Given the description of an element on the screen output the (x, y) to click on. 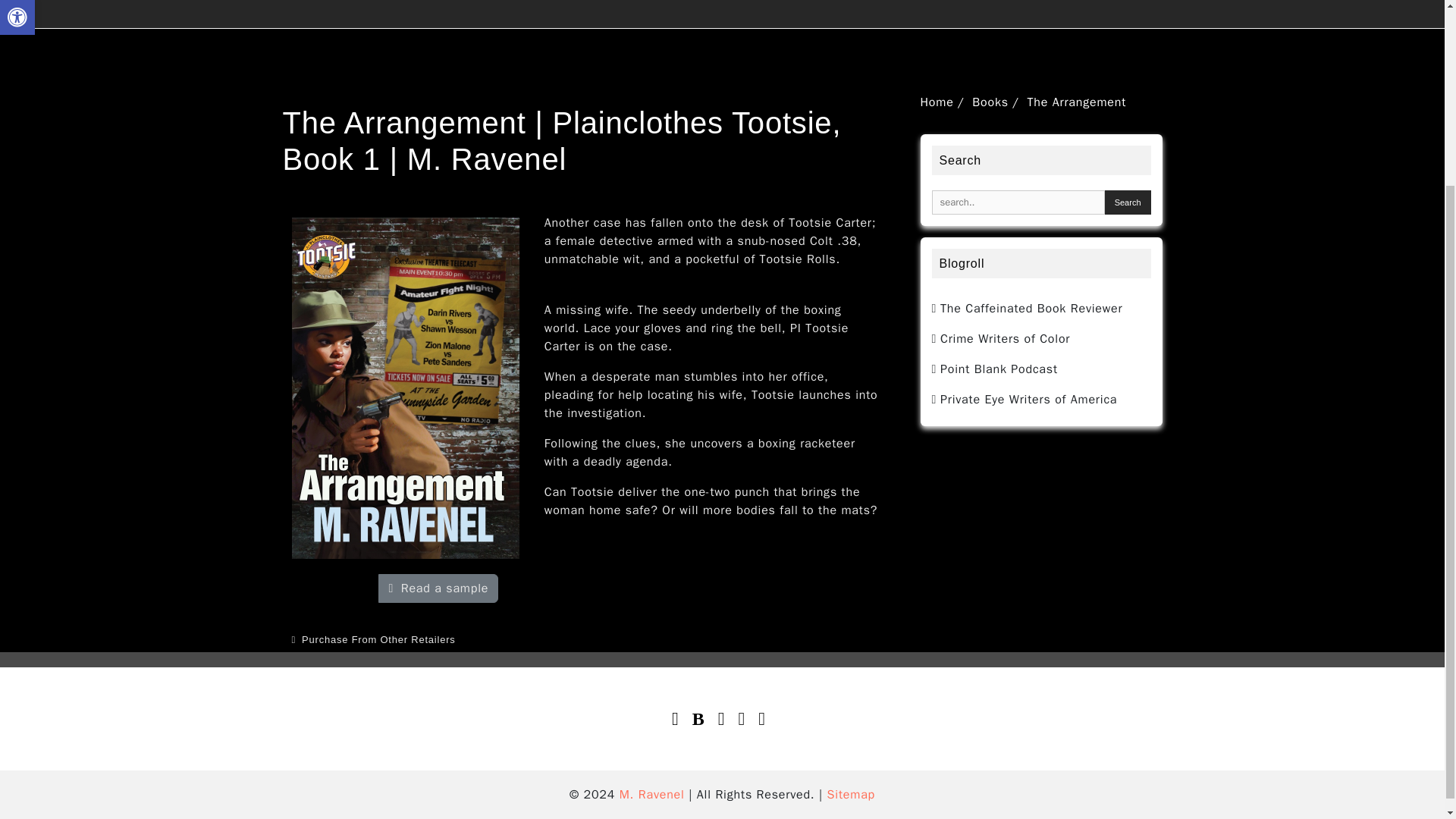
M. Ravenel (652, 794)
Books (989, 102)
  BUY NOW (334, 588)
Search (1128, 202)
Search (1128, 202)
 Crime Writers of Color (1000, 338)
Home (936, 102)
 Private Eye Writers of America (1023, 399)
  Read a sample (437, 588)
 Point Blank Podcast (994, 368)
 The Caffeinated Book Reviewer (1026, 308)
  Purchase From Other Retailers (372, 639)
Sitemap (851, 794)
